Given the description of an element on the screen output the (x, y) to click on. 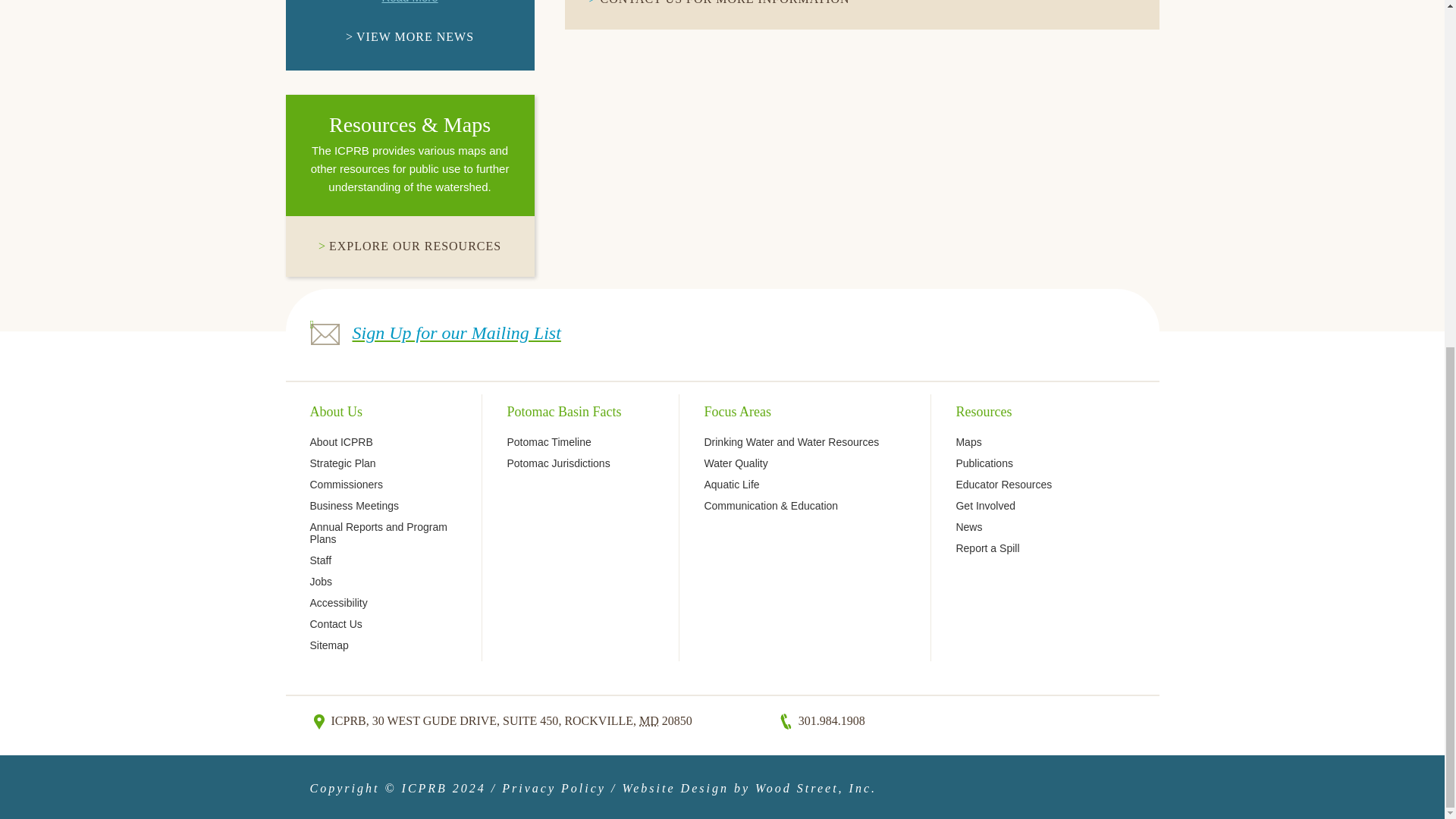
View More News (410, 36)
Contact us for more information (724, 2)
About Us (335, 411)
Explore Our Resources (409, 246)
